Given the description of an element on the screen output the (x, y) to click on. 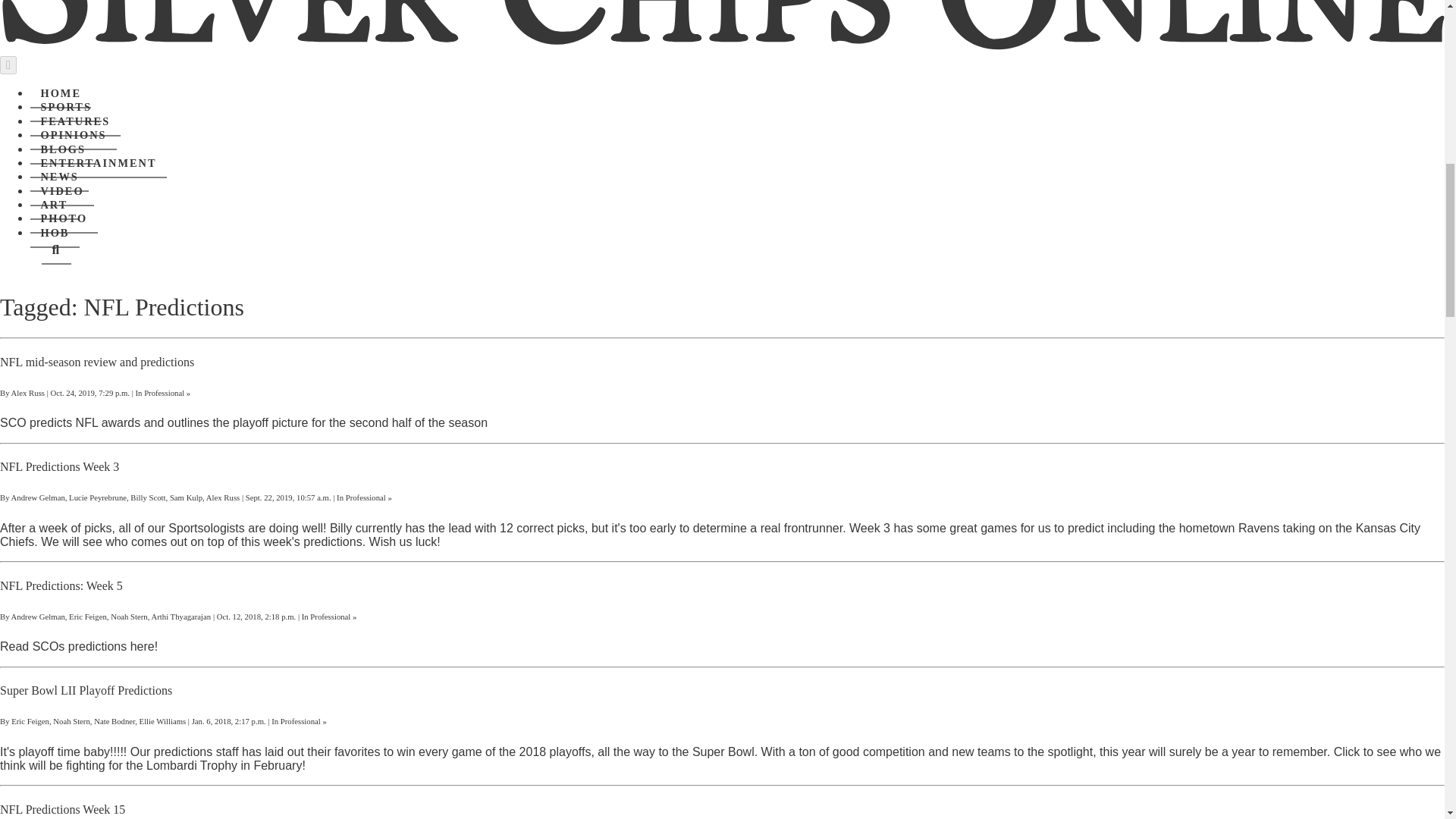
NEWS (59, 176)
NFL mid-season review and predictions (96, 361)
HOB (55, 233)
Billy Scott (148, 497)
Ellie Williams (162, 720)
ENTERTAINMENT (98, 163)
OPINIONS (73, 135)
NFL Predictions Week 3 (59, 466)
VIDEO (62, 191)
Eric Feigen (87, 615)
HOME (60, 93)
Nate Bodner (114, 720)
Super Bowl LII Playoff Predictions (85, 689)
Lucie Peyrebrune (97, 497)
Noah Stern (71, 720)
